Given the description of an element on the screen output the (x, y) to click on. 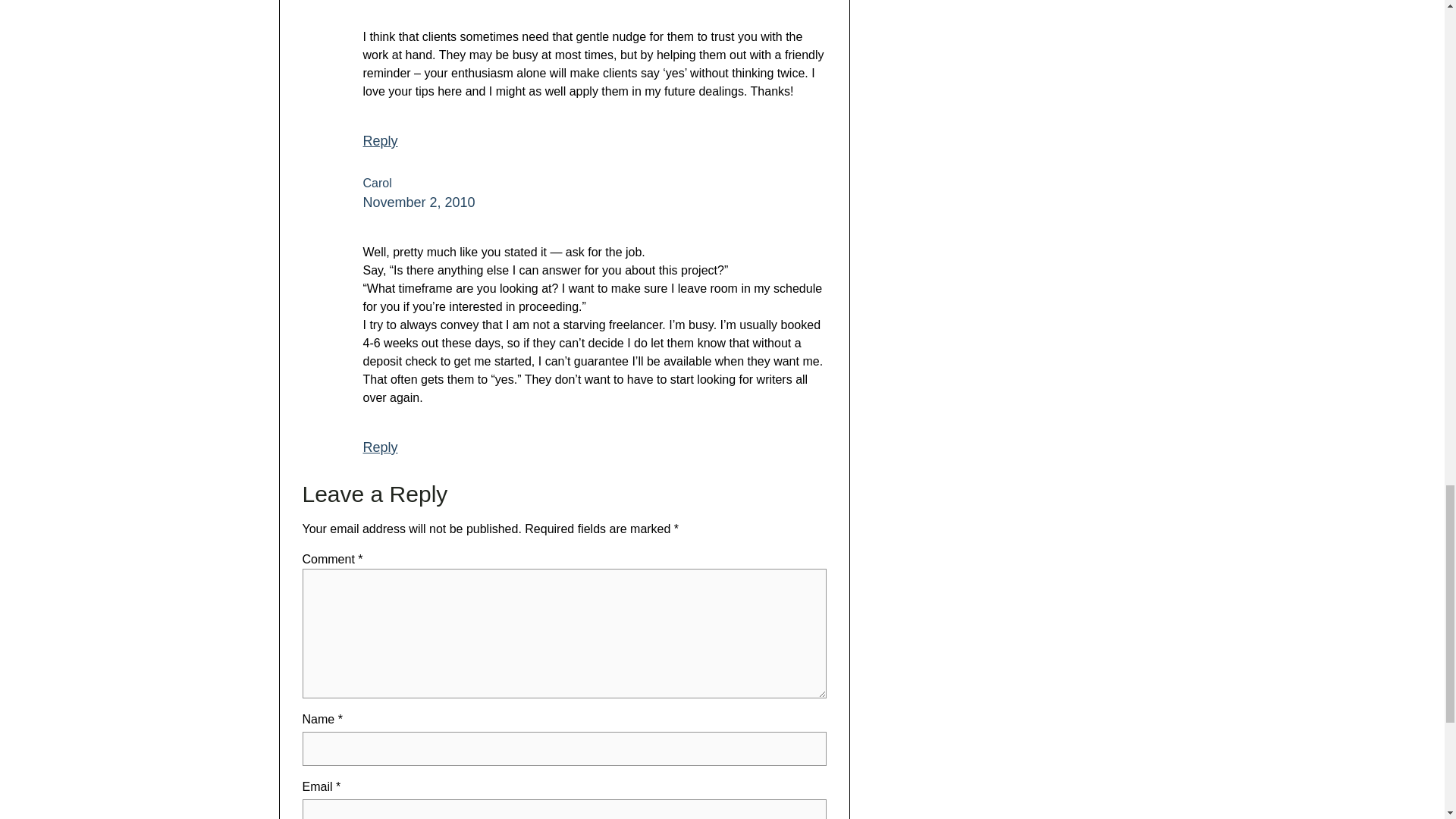
November 2, 2010 (418, 201)
Carol (376, 182)
Reply (379, 140)
Reply (379, 447)
